Given the description of an element on the screen output the (x, y) to click on. 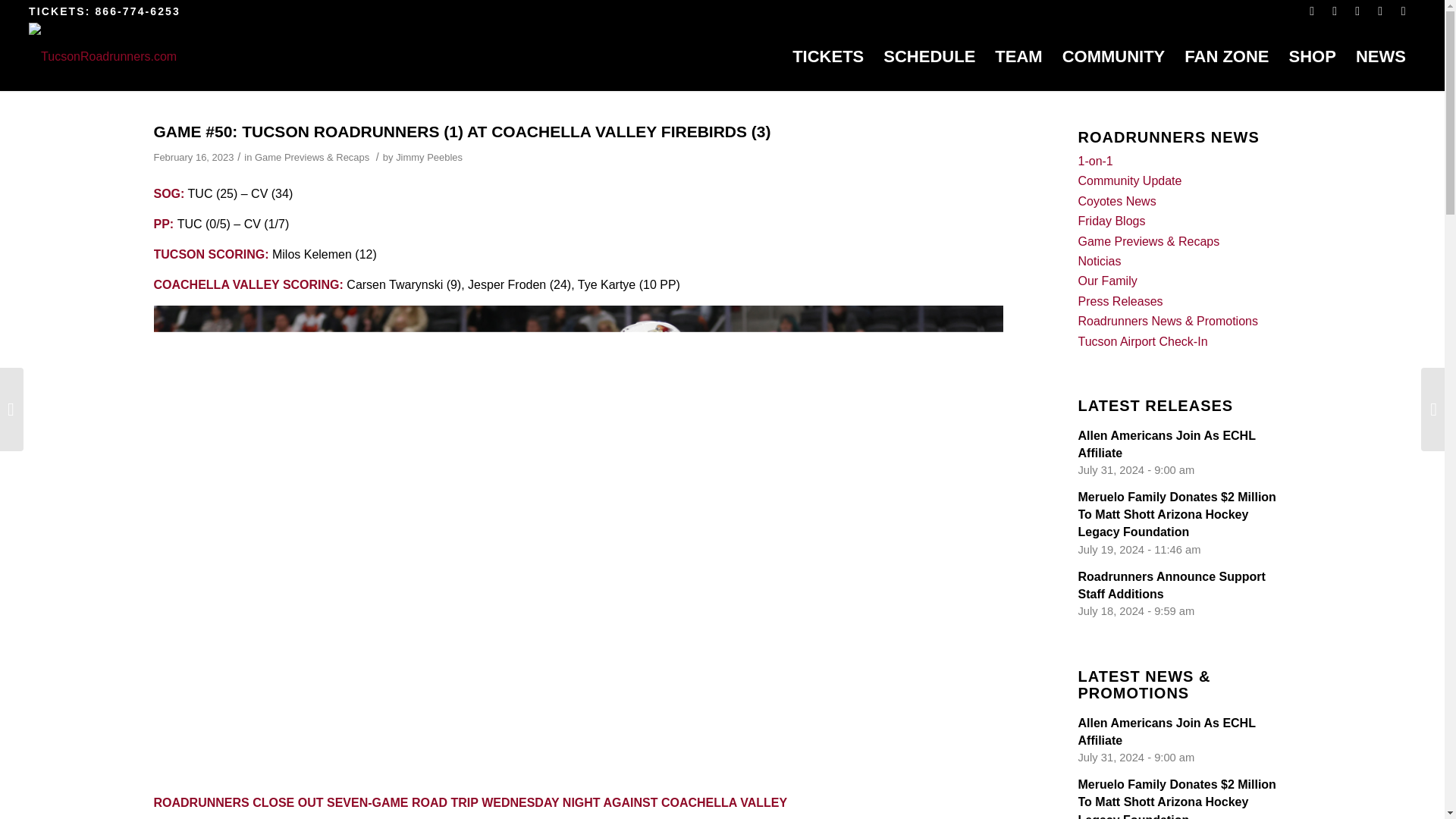
TEAM (1018, 56)
Youtube (1380, 11)
Jimmy Peebles (429, 156)
COMMUNITY (1113, 56)
TICKETS (828, 56)
Posts by Jimmy Peebles (429, 156)
FAN ZONE (1226, 56)
Mail (1404, 11)
Twitter (1335, 11)
SCHEDULE (929, 56)
SHOP (1312, 56)
NEWS (1380, 56)
866-774-6253 (136, 10)
Facebook (1312, 11)
Instagram (1359, 11)
